Given the description of an element on the screen output the (x, y) to click on. 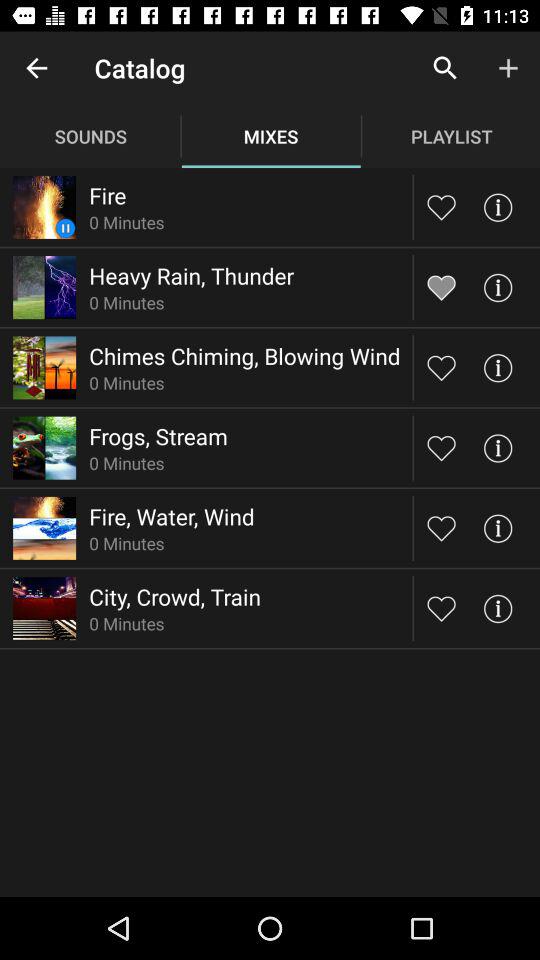
mais informaoes aqui (498, 287)
